Given the description of an element on the screen output the (x, y) to click on. 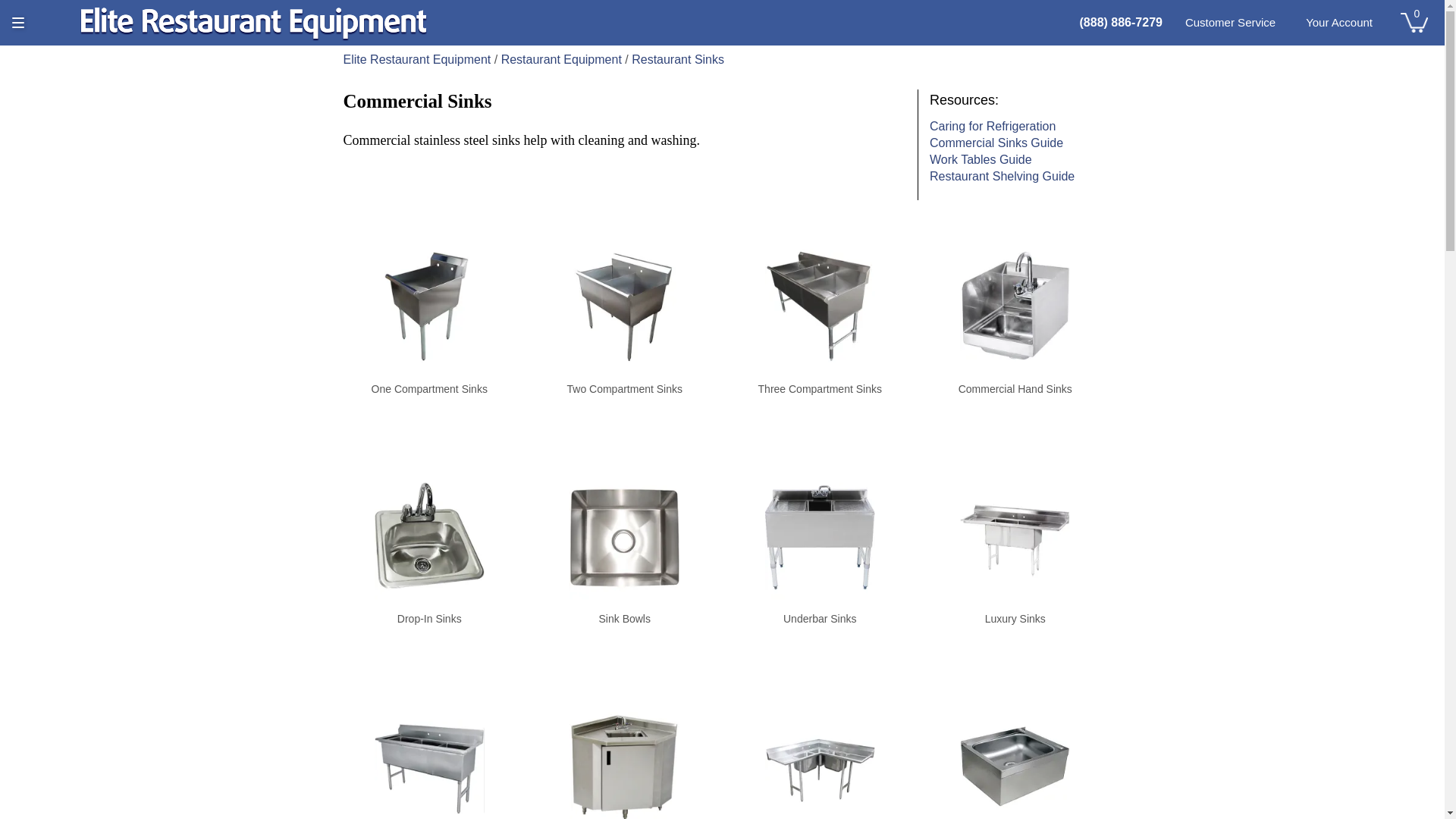
Toggle navigation (18, 22)
Customer Service (1229, 22)
Your Account (1339, 22)
0 (1413, 21)
